Given the description of an element on the screen output the (x, y) to click on. 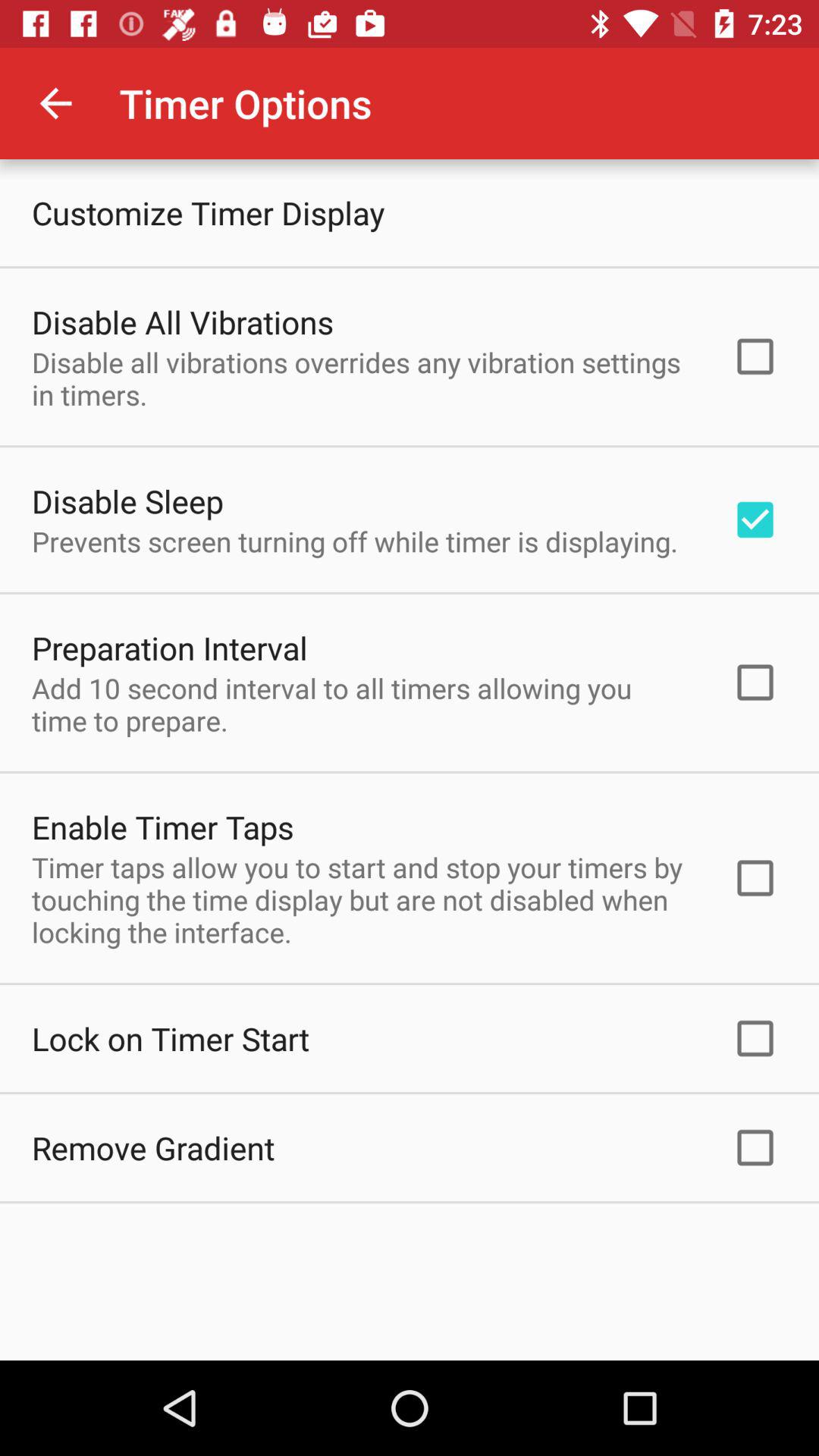
select the box symbol which is right hand side of the text remove graident (755, 1147)
click on the box at enable timer taps line (755, 877)
